Given the description of an element on the screen output the (x, y) to click on. 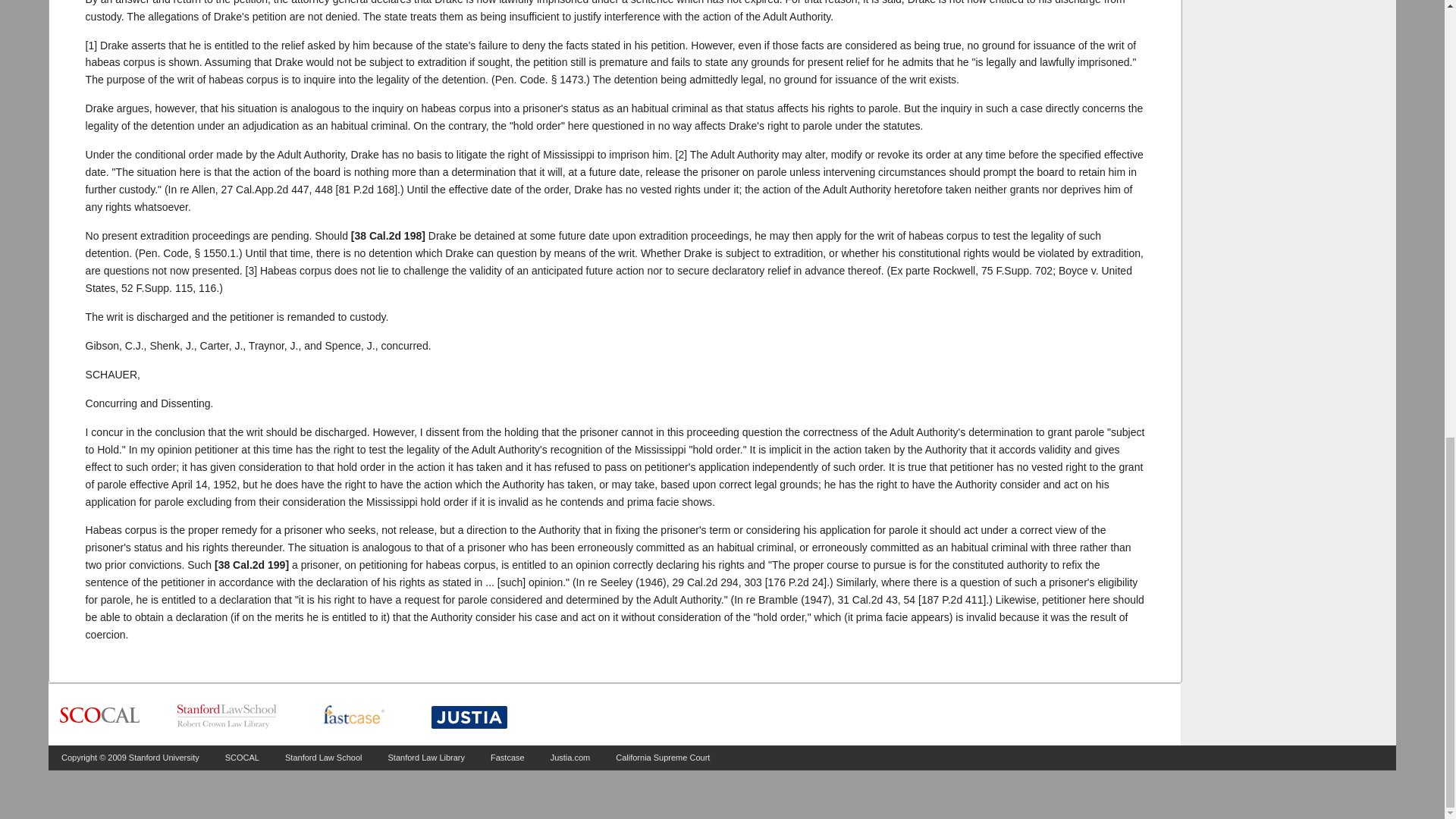
California Supreme Court (662, 757)
Justia (468, 716)
31 Cal.2d 43 (866, 599)
In re Seeley (704, 582)
Fastcase (507, 757)
Stanford Law School - Robert Crown Law Library (226, 715)
Supreme Court of California (99, 715)
Stanford Law Library (426, 757)
In re Bramble (866, 599)
29 Cal.2d 294 (704, 582)
Justia.com (570, 757)
fastcase (353, 716)
SCOCAL (242, 757)
Stanford Law School (323, 757)
